Given the description of an element on the screen output the (x, y) to click on. 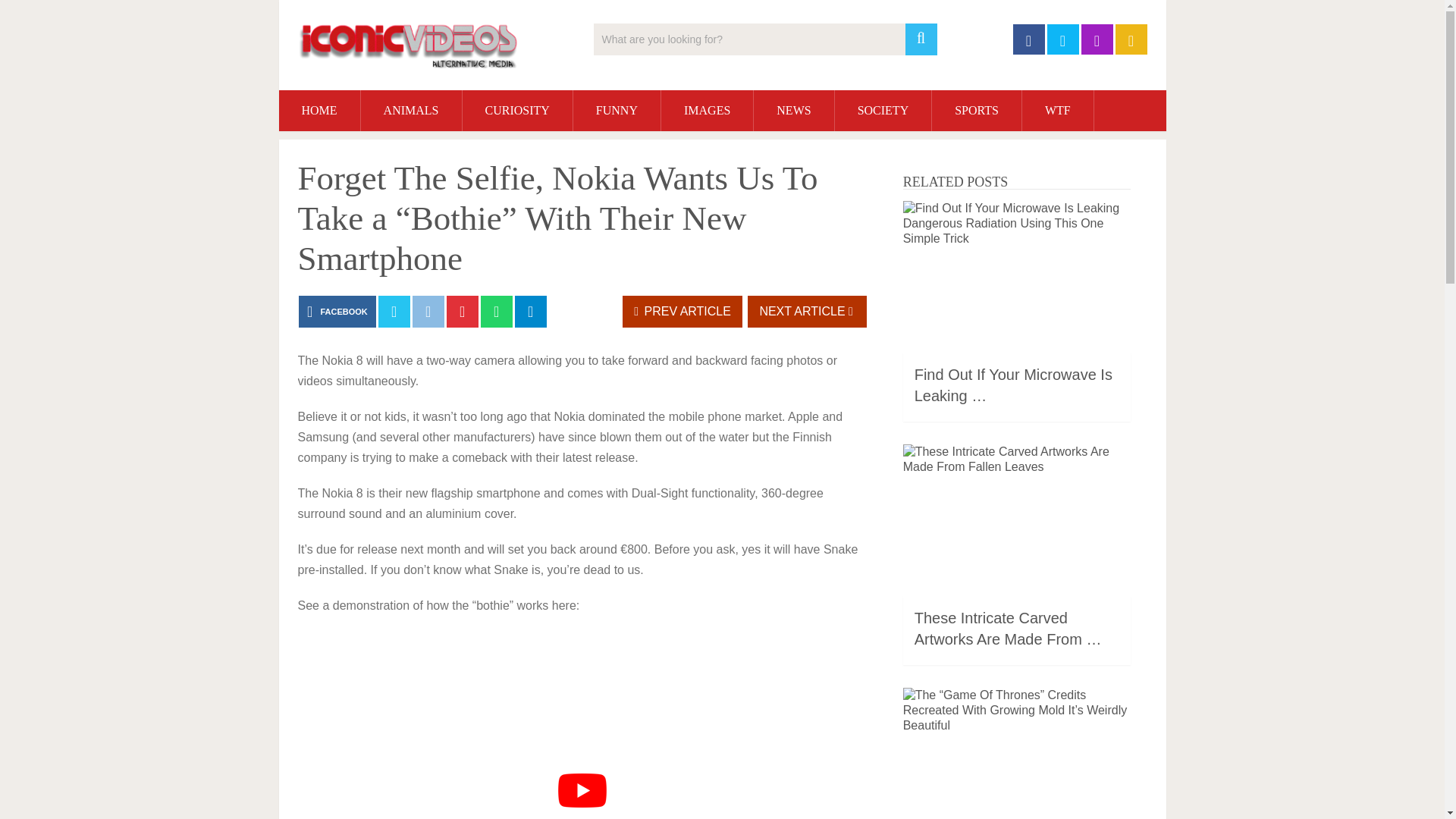
FUNNY (617, 110)
PREV ARTICLE (682, 311)
FACEBOOK (336, 311)
NEXT ARTICLE (807, 311)
SPORTS (976, 110)
NEWS (793, 110)
IMAGES (706, 110)
WTF (1057, 110)
CURIOSITY (517, 110)
ANIMALS (411, 110)
